Given the description of an element on the screen output the (x, y) to click on. 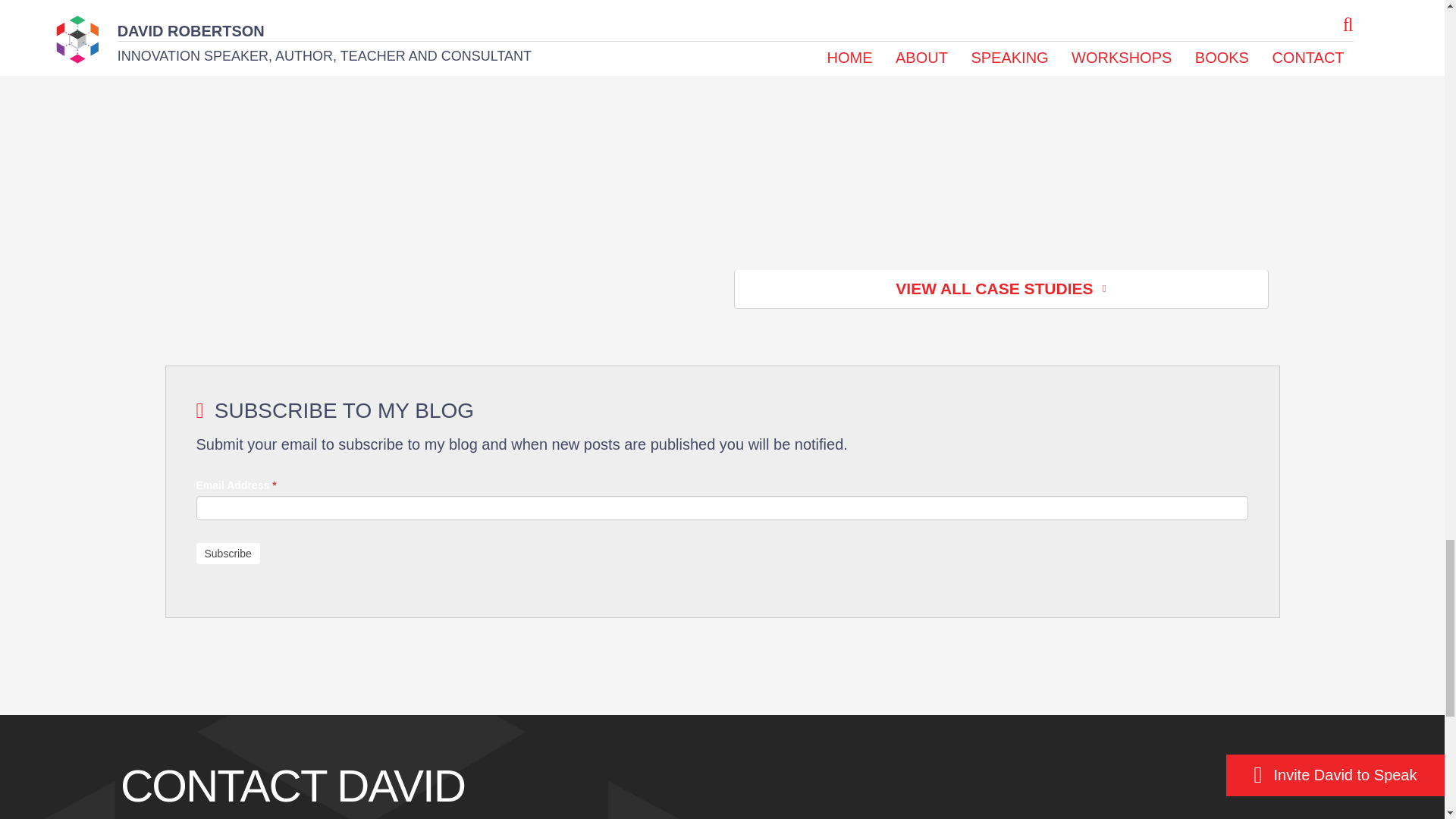
VIEW ALL CASE STUDIES (1000, 289)
Subscribe (227, 553)
